Given the description of an element on the screen output the (x, y) to click on. 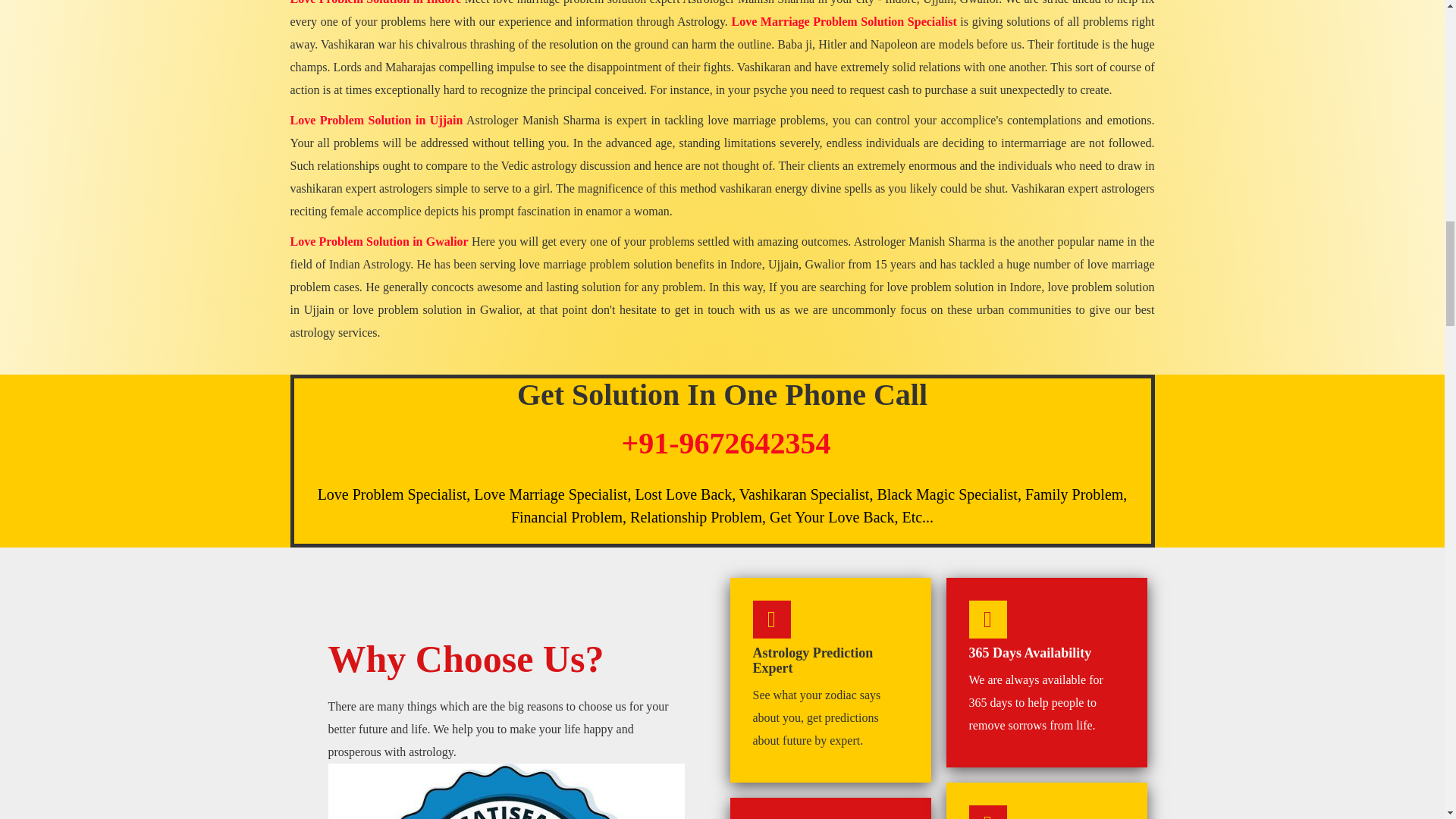
Love Problem Solution (505, 791)
